Given the description of an element on the screen output the (x, y) to click on. 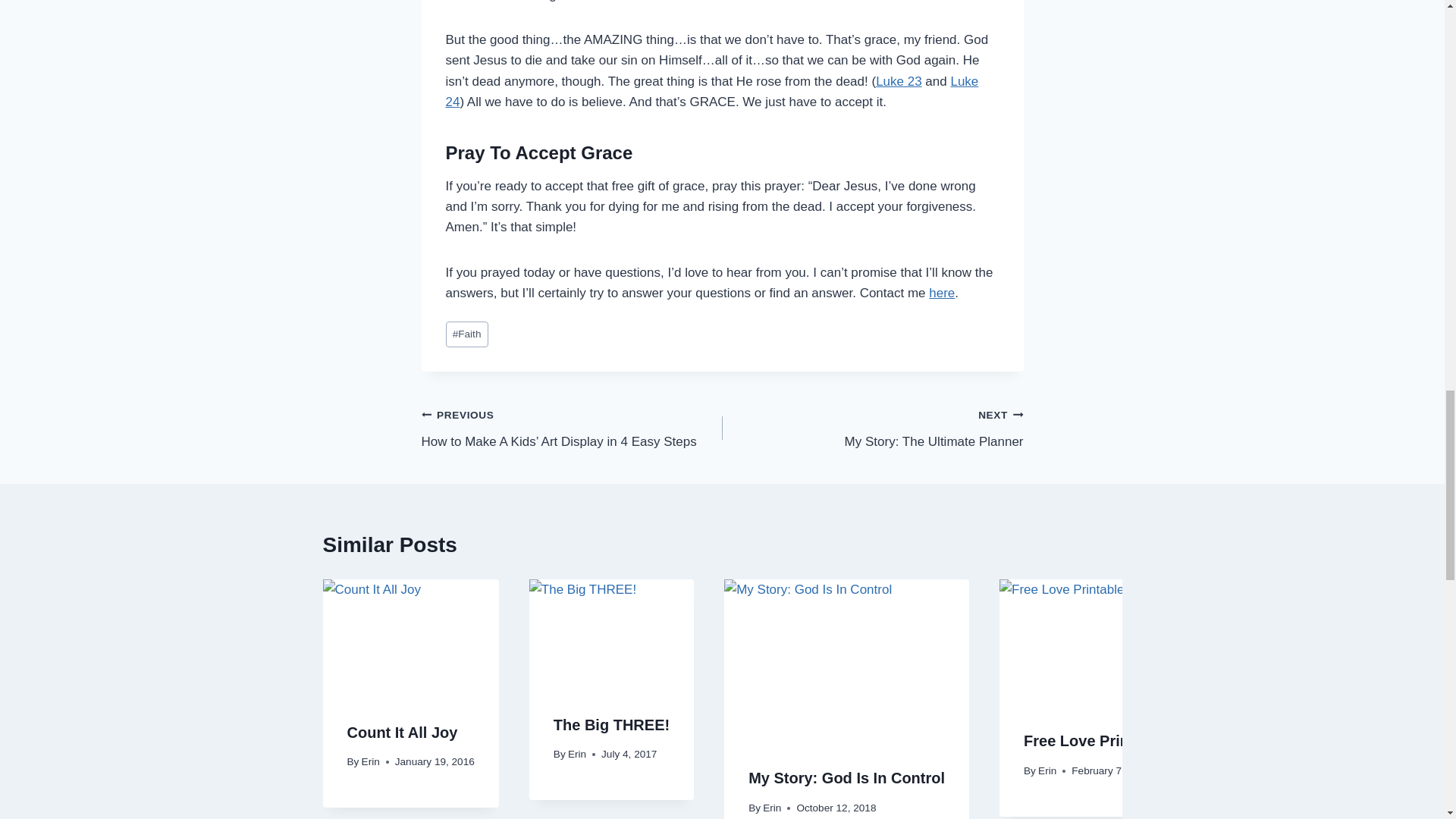
Erin (576, 754)
Faith (466, 334)
Count It All Joy (402, 732)
Luke 24 (711, 91)
Erin (771, 808)
My Story: God Is In Control (846, 777)
here (941, 292)
Free Love Printable (1093, 740)
Erin (370, 761)
Luke 23 (872, 428)
The Big THREE! (898, 81)
